Given the description of an element on the screen output the (x, y) to click on. 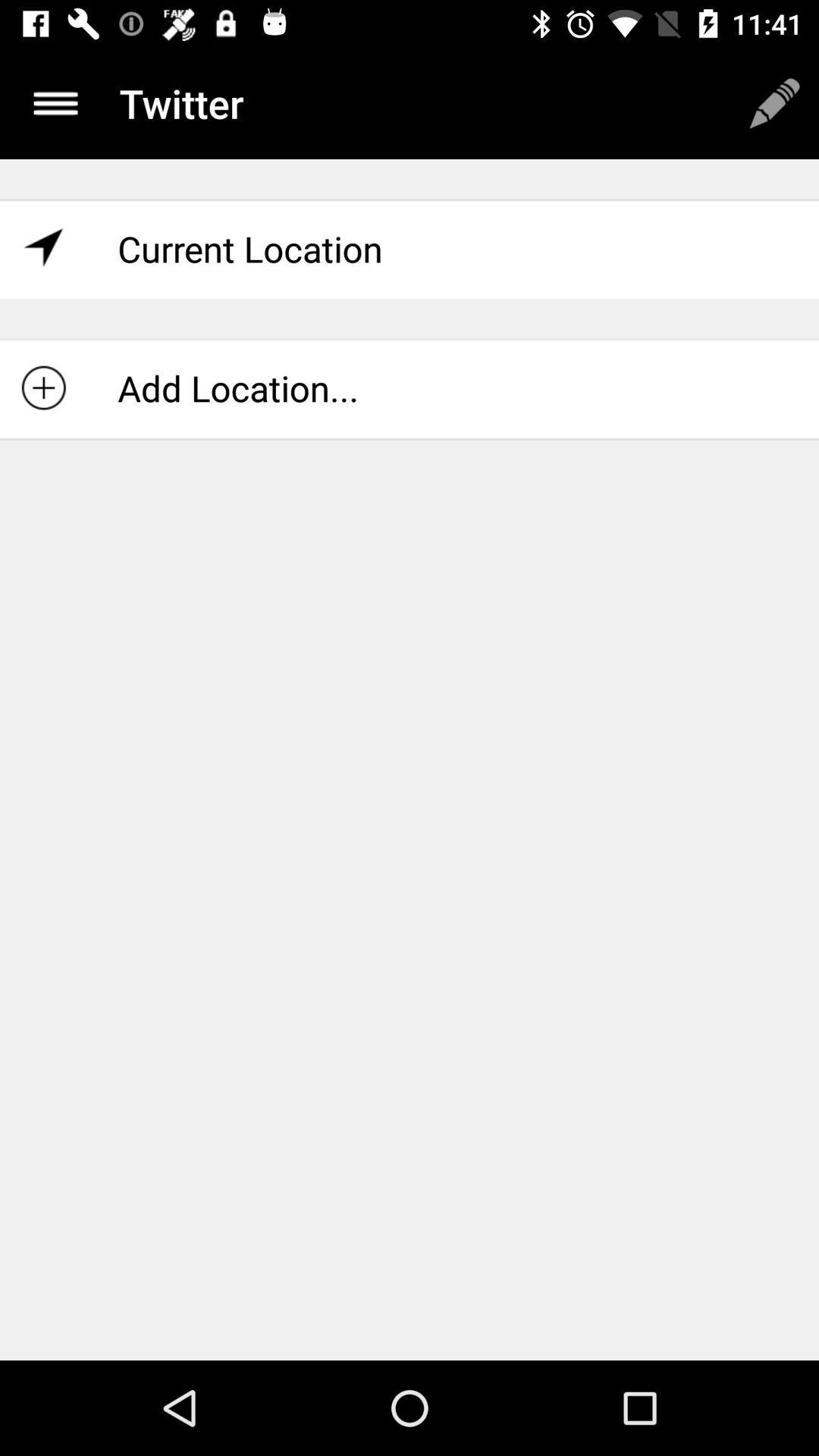
scroll to current location (409, 248)
